Given the description of an element on the screen output the (x, y) to click on. 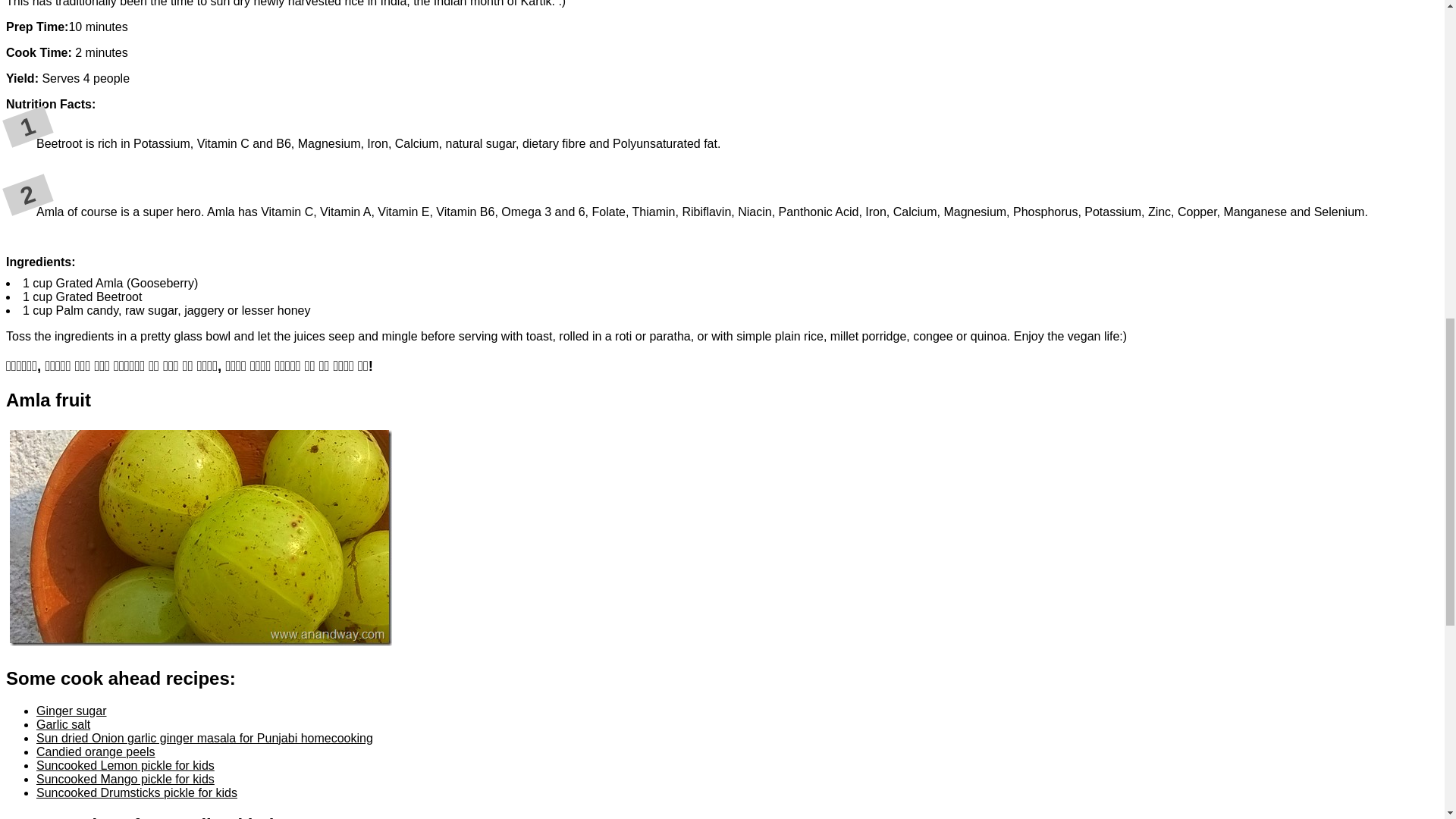
Sun dried Onion garlic ginger masala for Punjabi homecooking (204, 738)
Suncooked Lemon pickle for kids (125, 765)
Suncooked Drumsticks pickle for kids (136, 792)
Garlic salt (63, 724)
Suncooked Mango pickle for kids (125, 779)
Ginger sugar (71, 710)
Candied orange peels (95, 751)
